Given the description of an element on the screen output the (x, y) to click on. 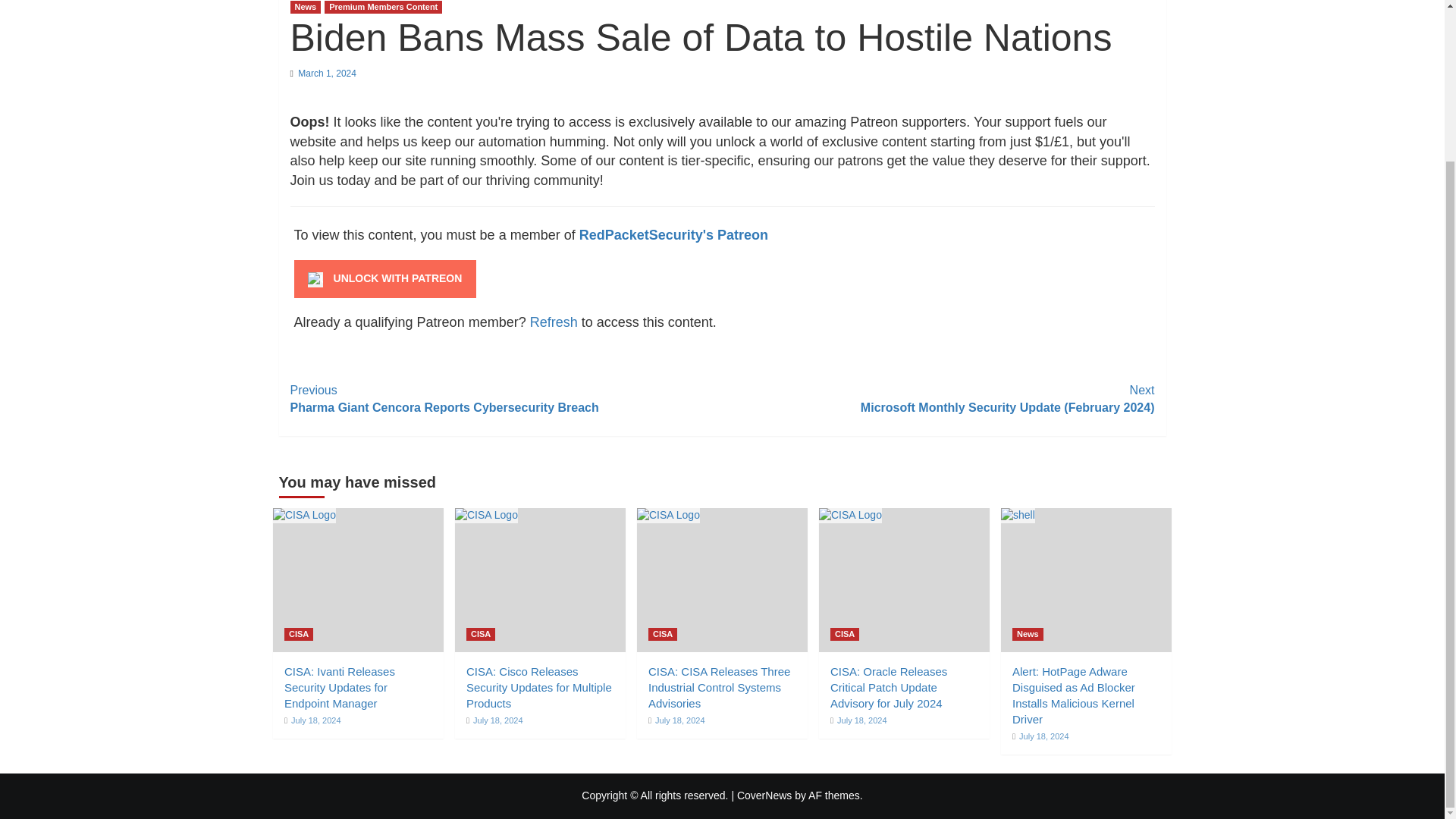
News (304, 6)
Search (1120, 3)
Premium Members Content (383, 6)
